Given the description of an element on the screen output the (x, y) to click on. 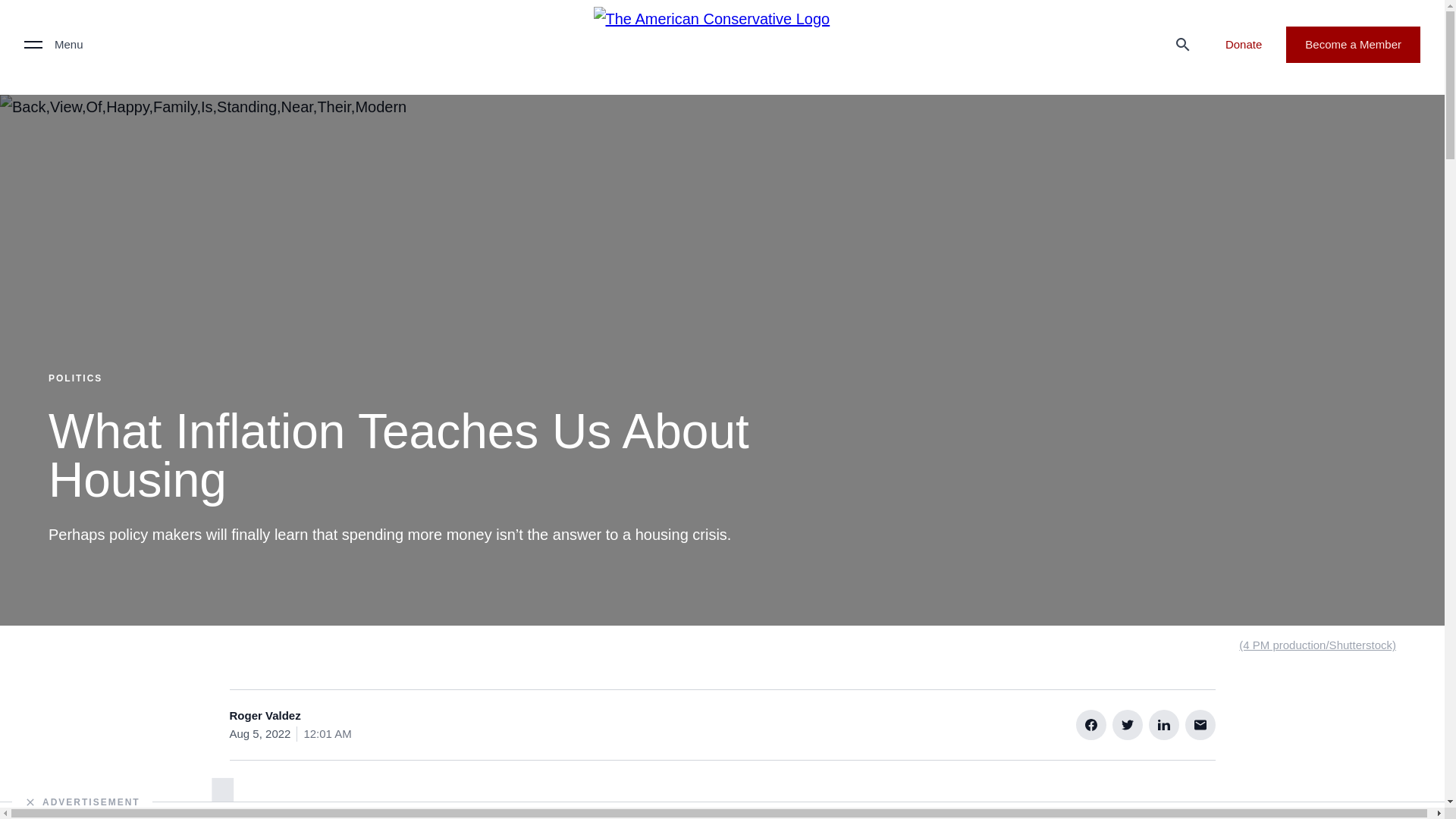
Roger Valdez (263, 715)
Become a Member (1353, 44)
Menu (53, 44)
Donate (1243, 44)
search (1182, 44)
